Given the description of an element on the screen output the (x, y) to click on. 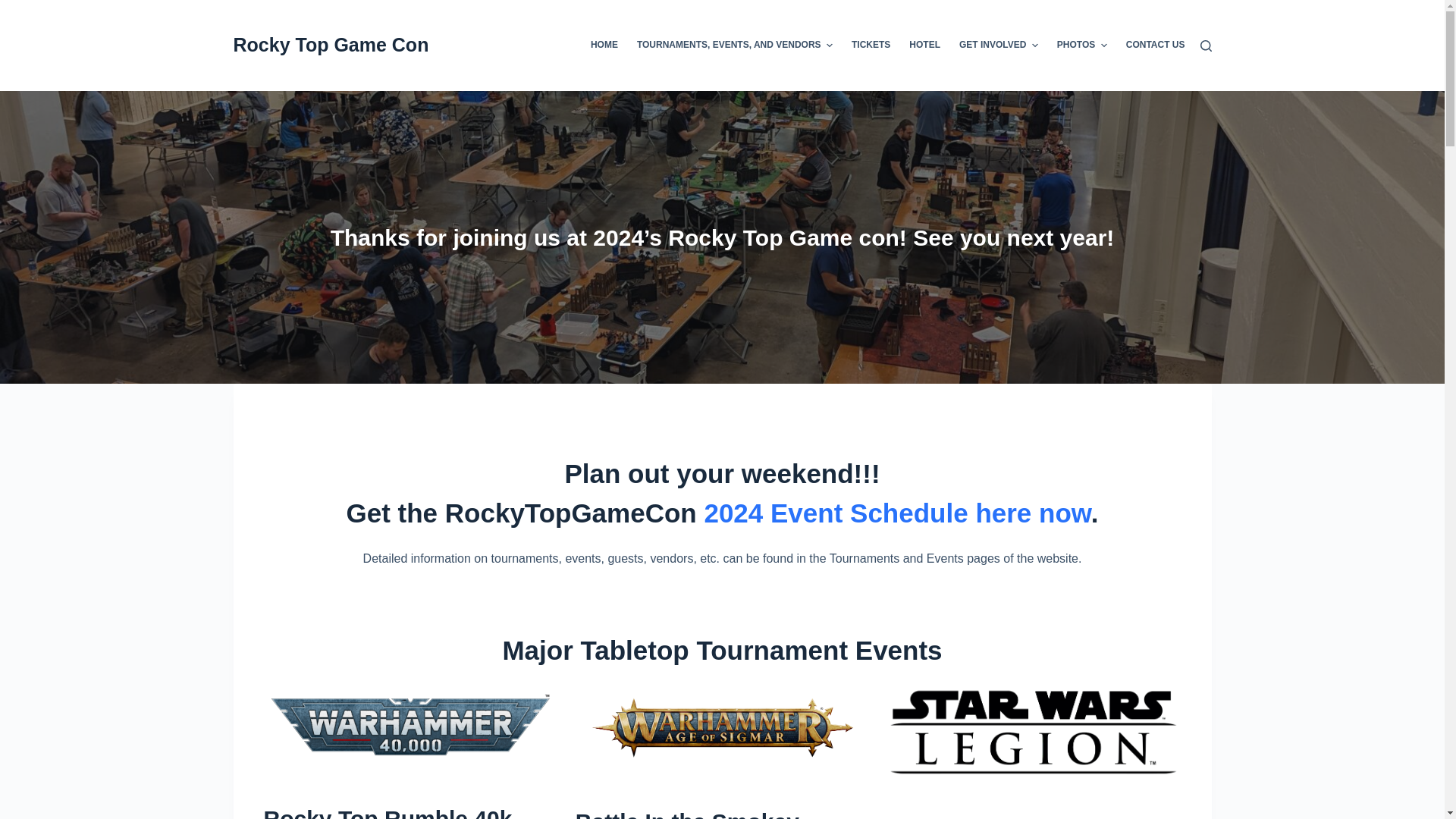
TICKETS (870, 45)
GET INVOLVED (999, 45)
TOURNAMENTS, EVENTS, AND VENDORS (734, 45)
Skip to content (15, 7)
HOTEL (924, 45)
Rocky Top Game Con (330, 44)
HOME (609, 45)
